Given the description of an element on the screen output the (x, y) to click on. 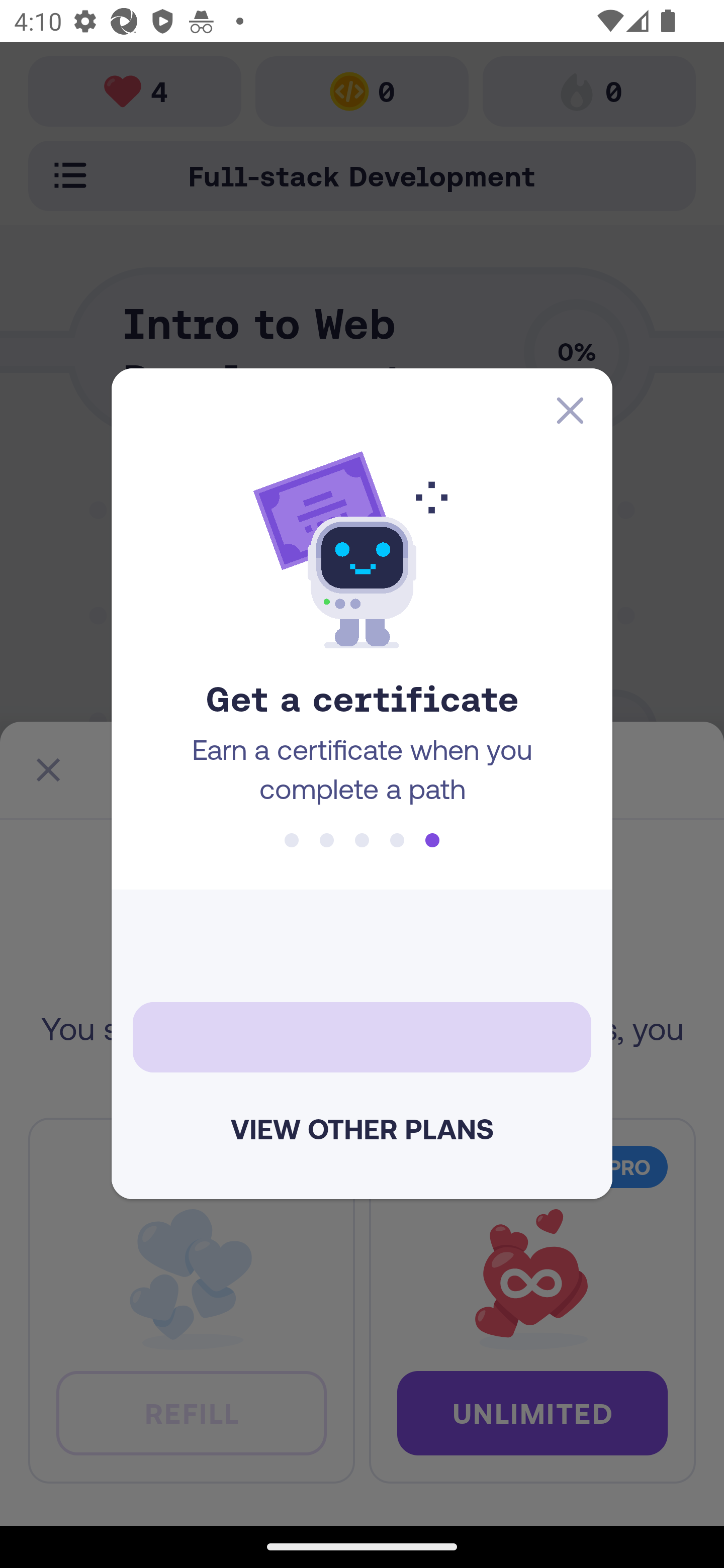
VIEW OTHER PLANS (362, 1128)
